Given the description of an element on the screen output the (x, y) to click on. 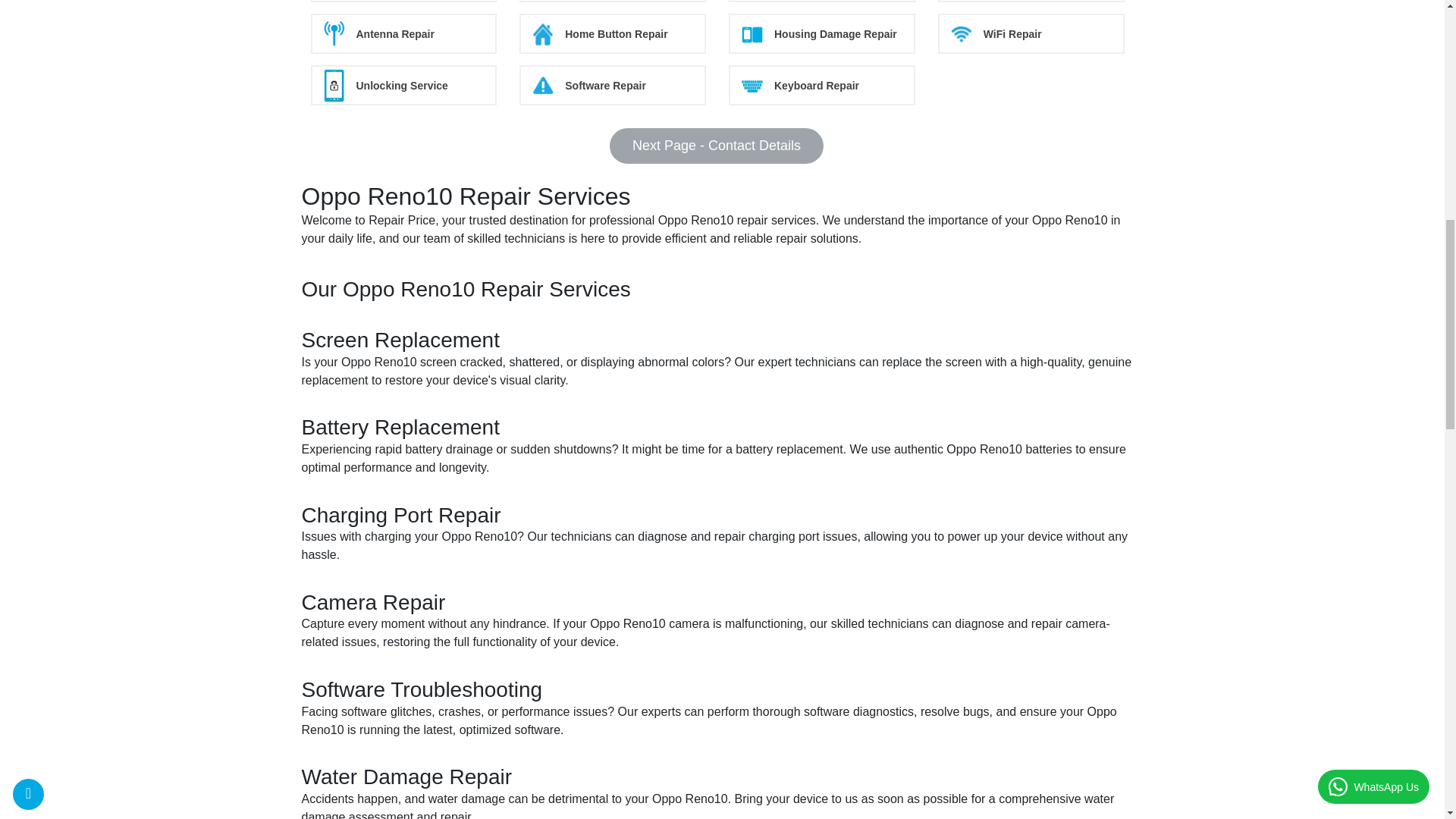
Next Page - Contact Details (717, 145)
